Given the description of an element on the screen output the (x, y) to click on. 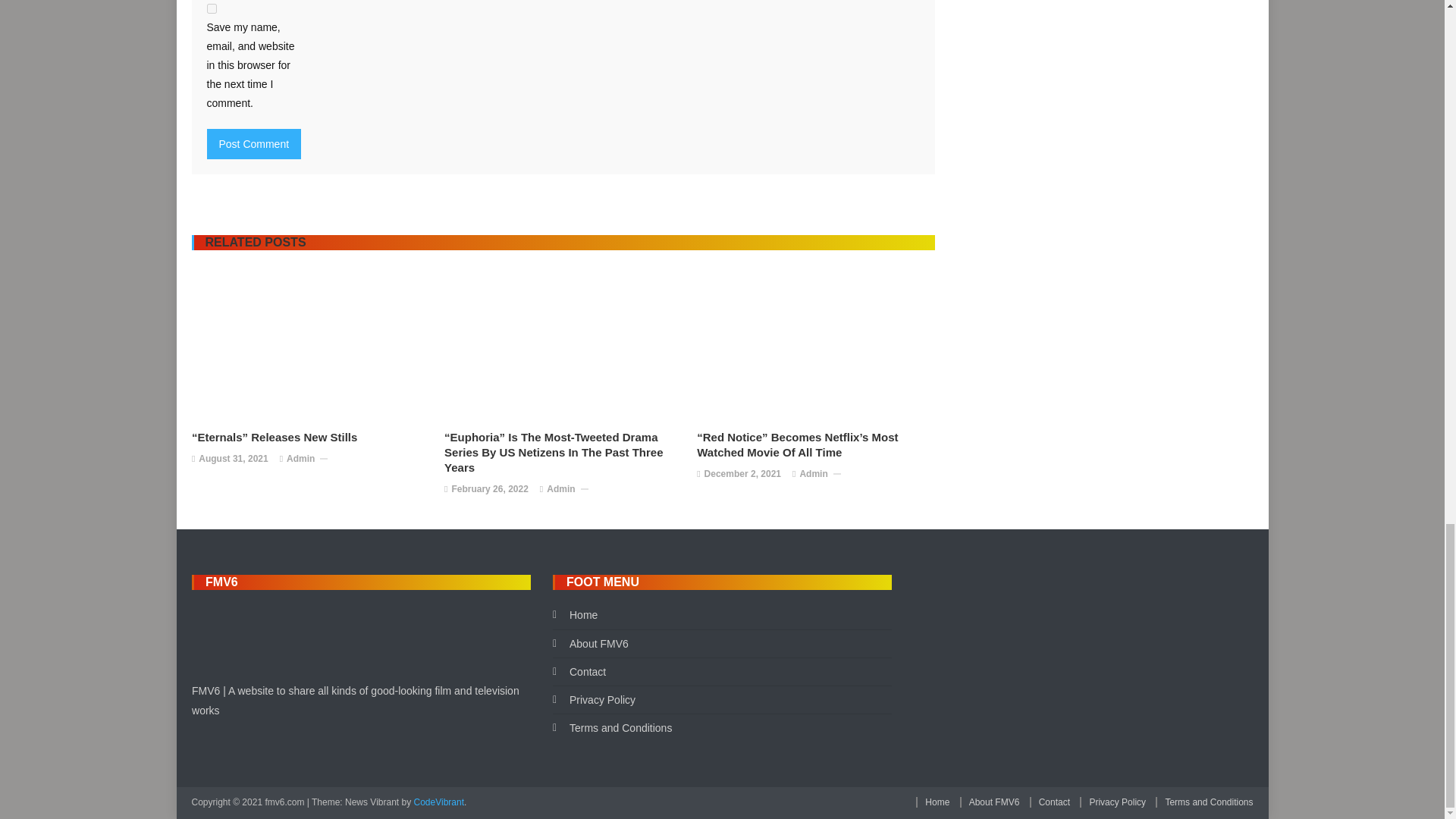
yes (210, 8)
Post Comment (253, 143)
Admin (300, 459)
Post Comment (253, 143)
August 31, 2021 (232, 459)
